Given the description of an element on the screen output the (x, y) to click on. 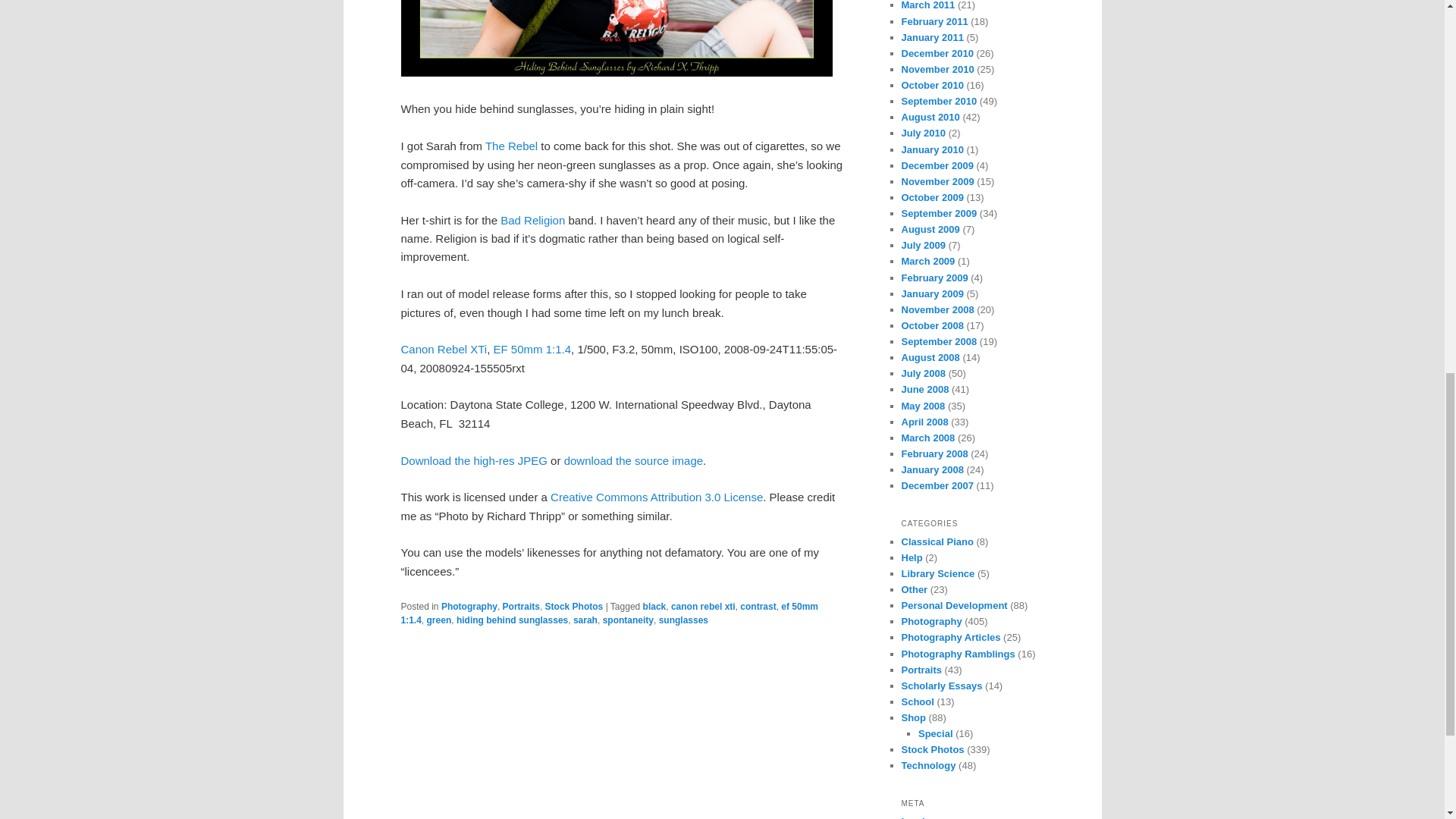
Photography-related articles. (950, 636)
Uncategorized stuff. (914, 589)
contrast (757, 606)
Photography (469, 606)
Download the high-res JPEG (473, 460)
Portraits (521, 606)
Richard X. Thripp's Personal Development (954, 604)
EF 50mm 1:1.4 (532, 349)
green (438, 620)
Prints available. (913, 717)
ef 50mm 1:1.4 (609, 613)
Bad Religion (532, 219)
